Given the description of an element on the screen output the (x, y) to click on. 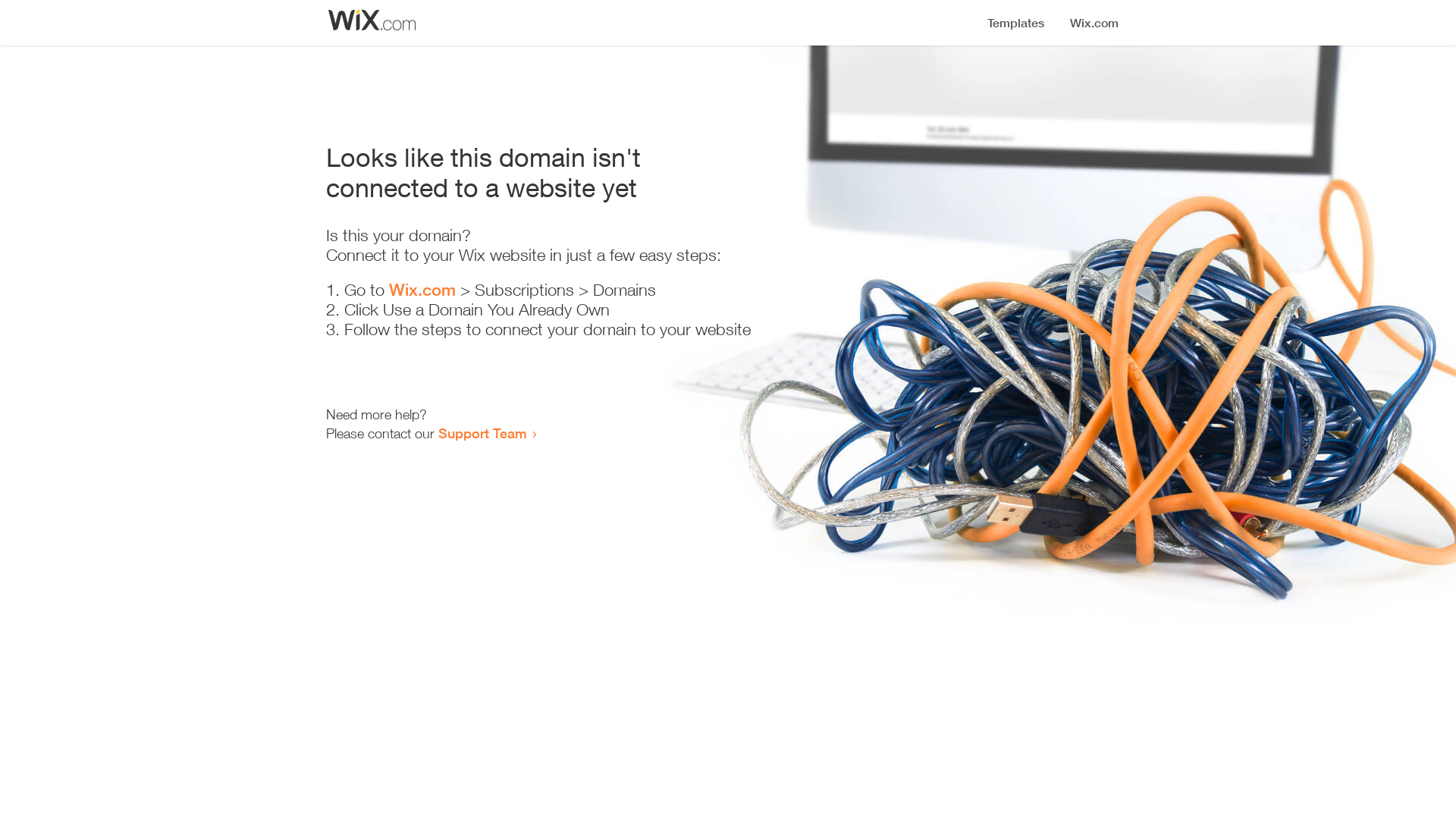
Wix.com Element type: text (422, 289)
Support Team Element type: text (482, 432)
